Given the description of an element on the screen output the (x, y) to click on. 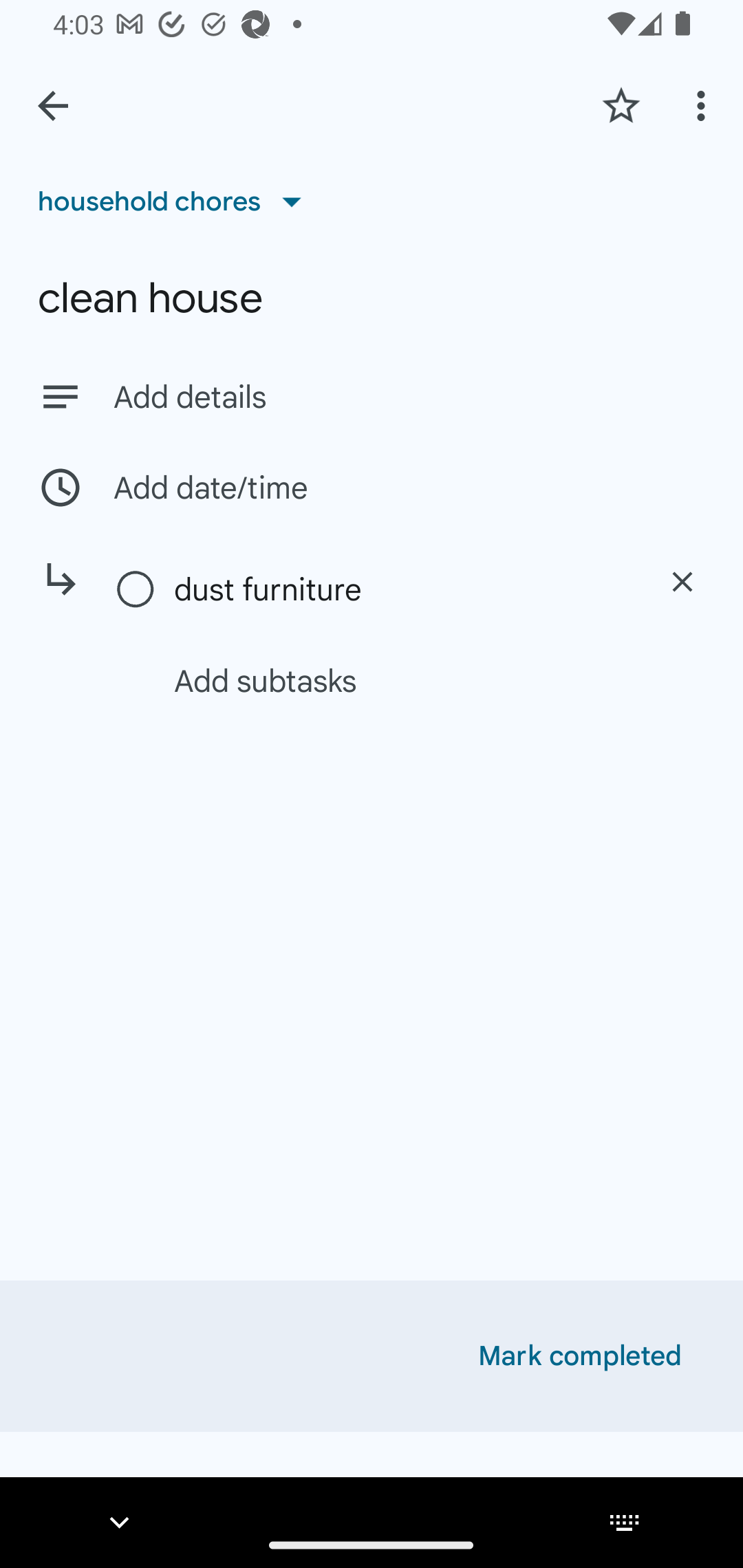
Back (53, 105)
Add star (620, 105)
More options (704, 105)
clean house (371, 298)
Add details (371, 396)
Add details (409, 397)
Add date/time (371, 487)
dust furniture (401, 589)
Delete subtask (682, 581)
Mark as complete (136, 590)
Add subtasks (394, 680)
Mark completed (580, 1355)
